Given the description of an element on the screen output the (x, y) to click on. 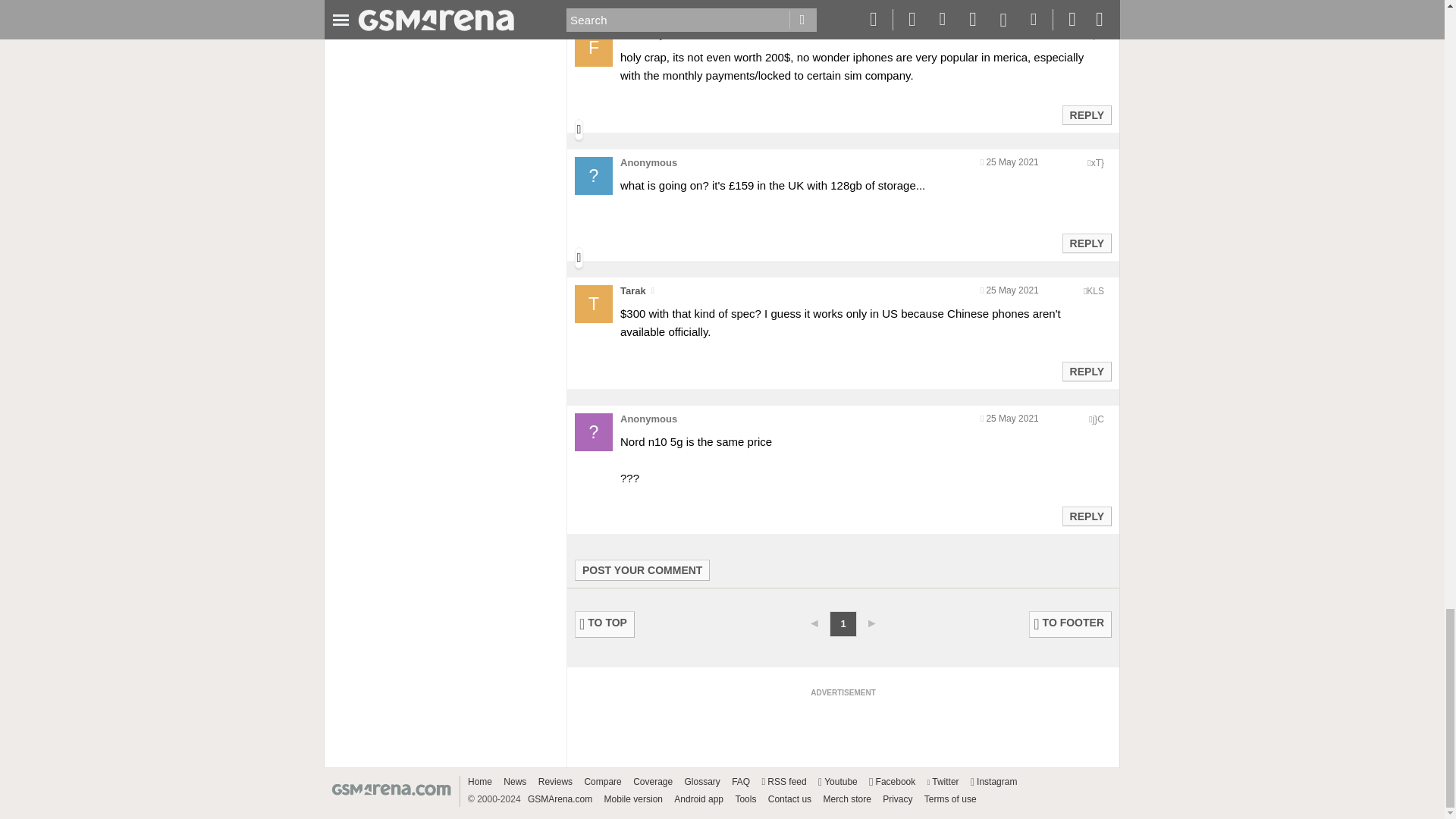
TO TOP (604, 624)
